Given the description of an element on the screen output the (x, y) to click on. 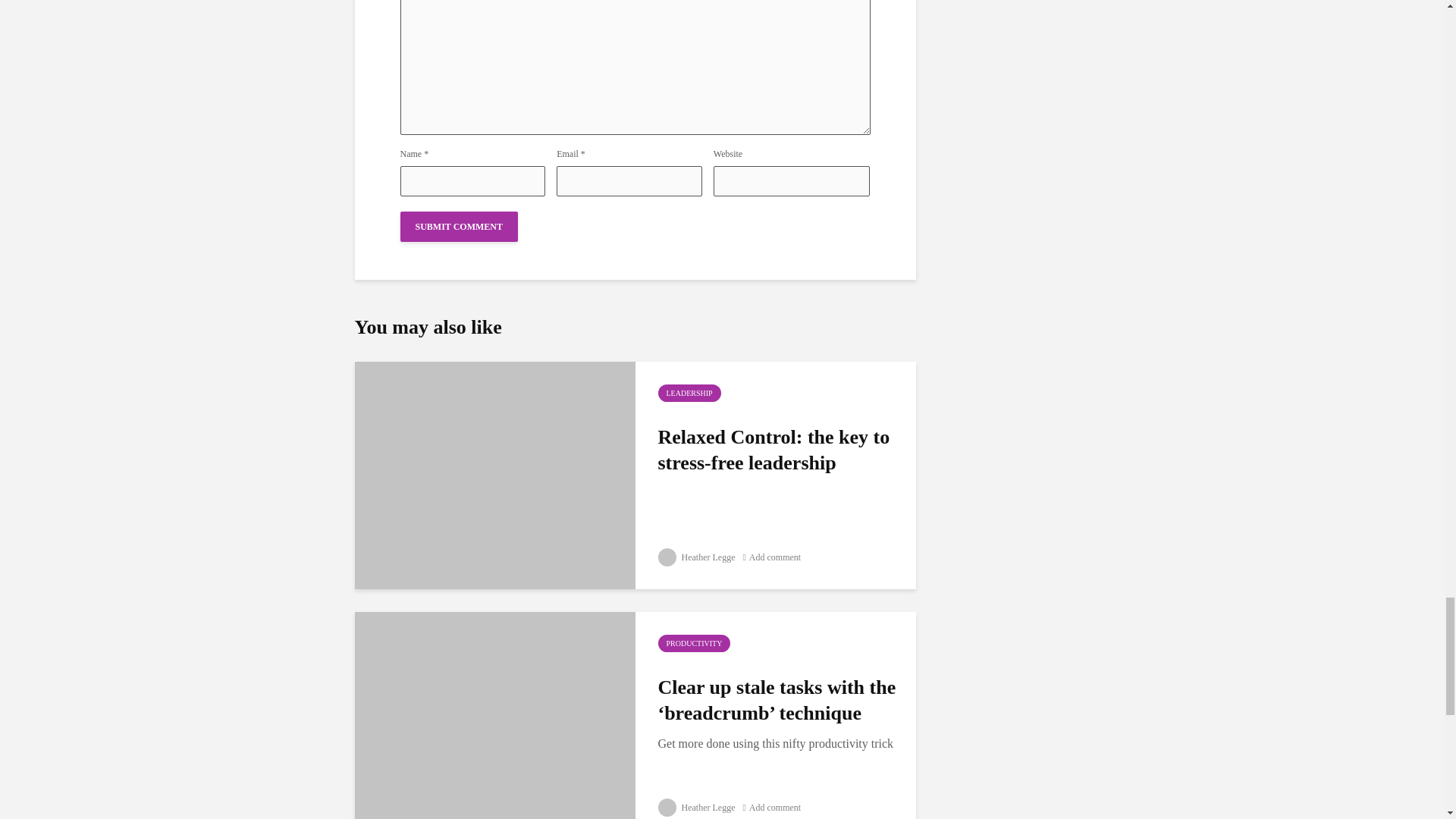
Submit Comment (459, 226)
Relaxed Control: the key to stress-free leadership (494, 473)
